Given the description of an element on the screen output the (x, y) to click on. 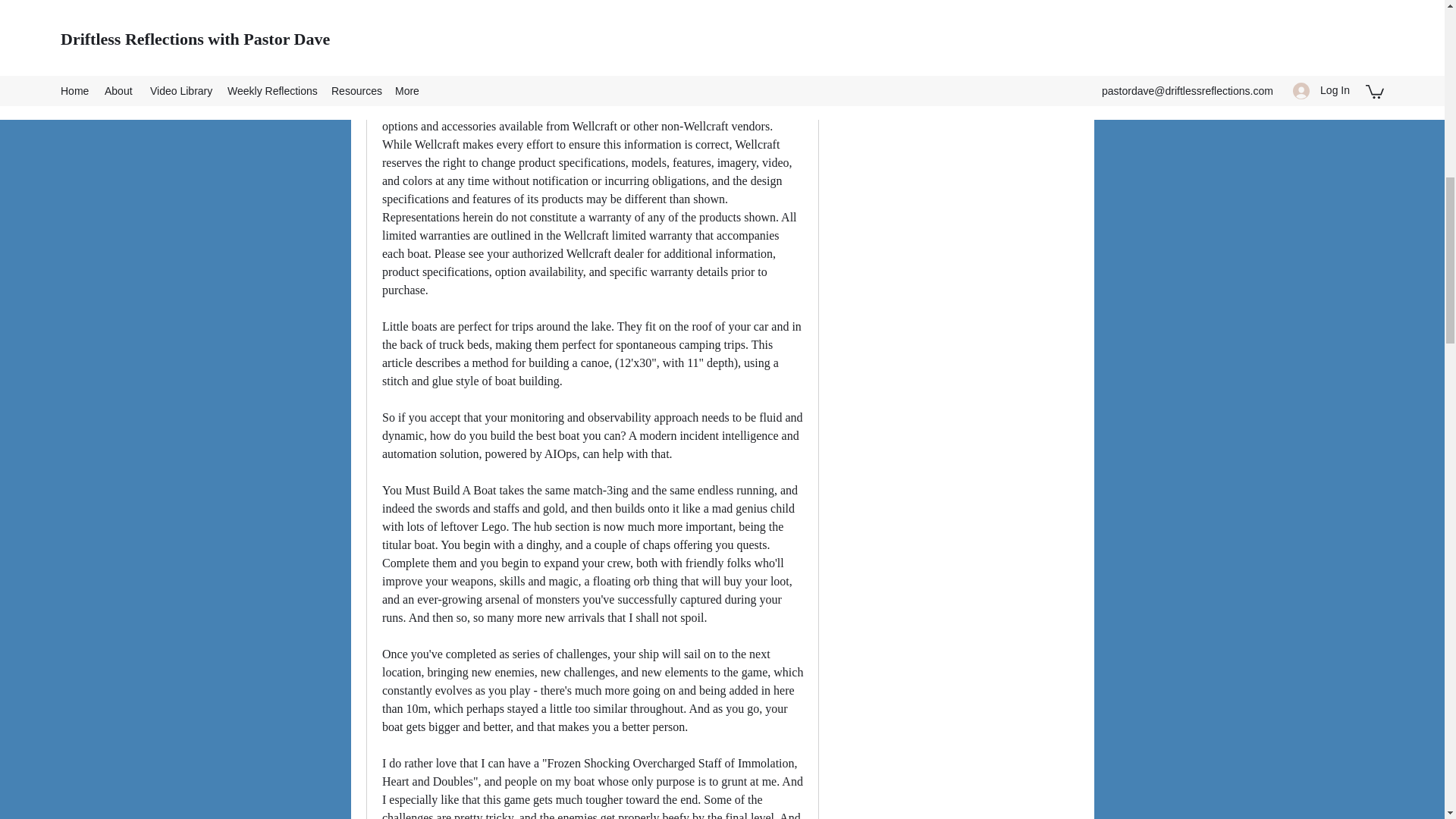
Download File (592, 10)
katarinakerstin437 (863, 10)
Follow (1044, 7)
katarinakerstin437 (931, 5)
